Given the description of an element on the screen output the (x, y) to click on. 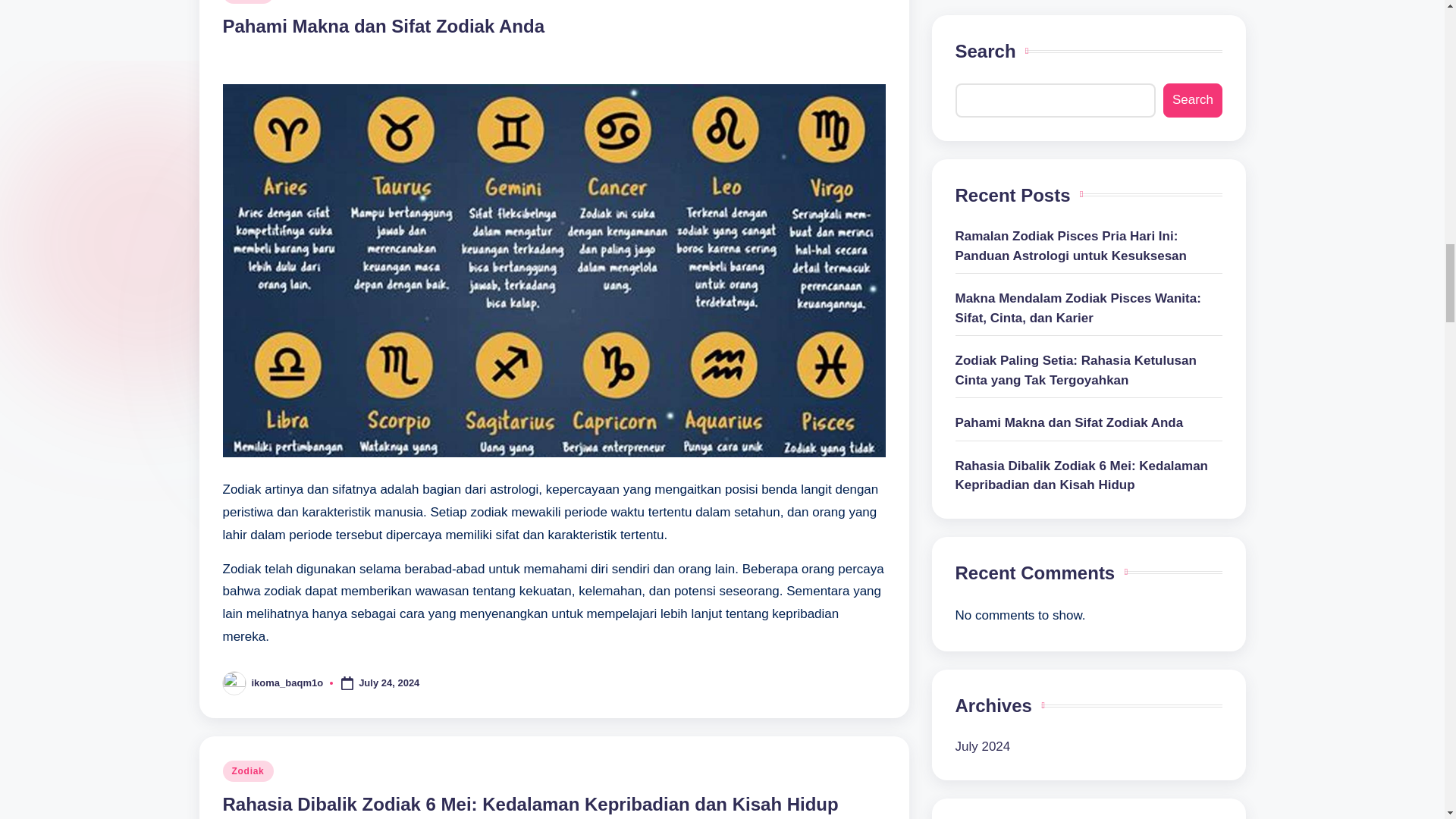
Pahami Makna dan Sifat Zodiak Anda (383, 25)
